Given the description of an element on the screen output the (x, y) to click on. 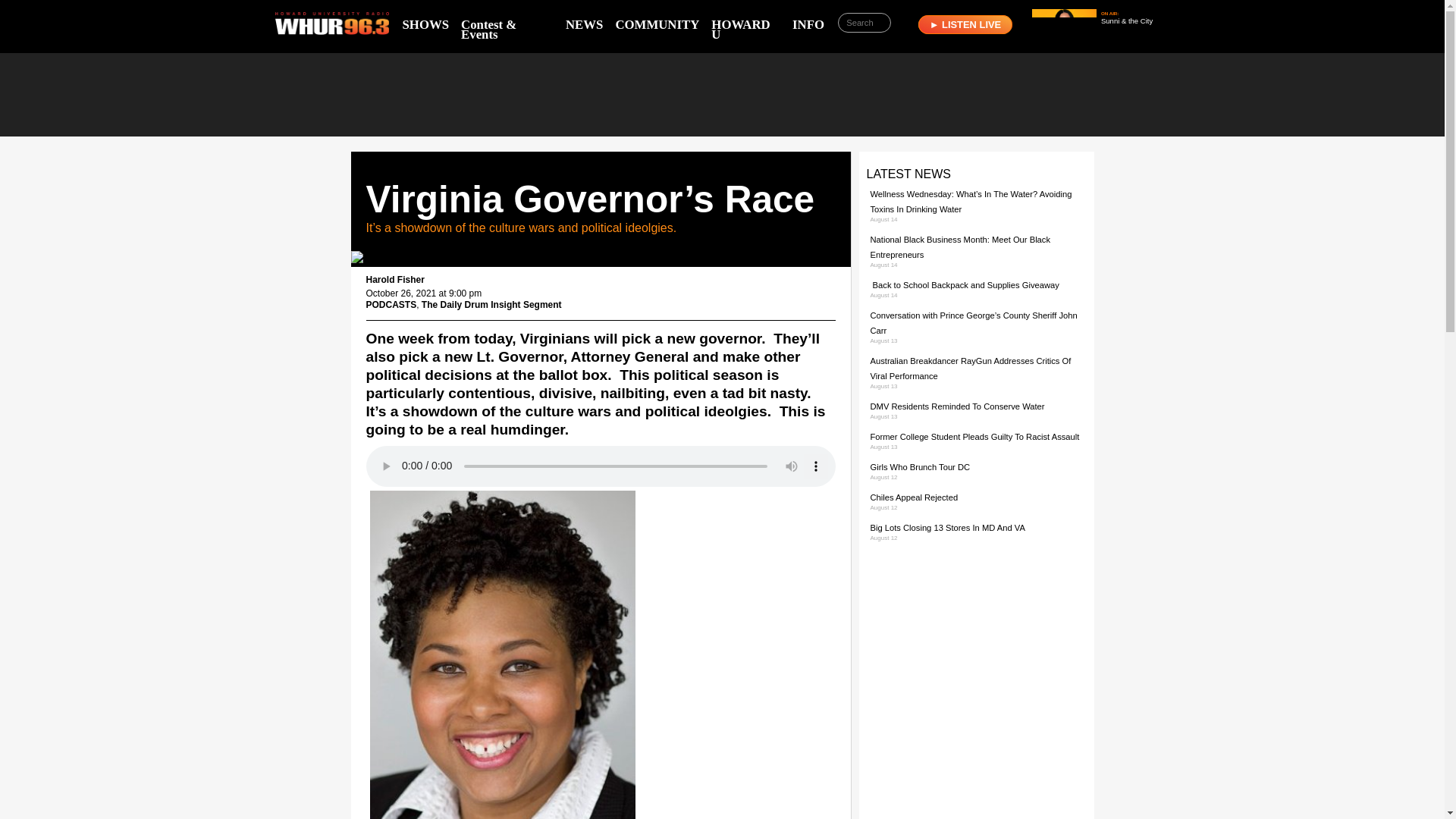
Harold Fisher (394, 279)
Permanent Link to Chiles Appeal Rejected (914, 497)
 Back to School Backpack and Supplies Giveaway (964, 284)
SHOWS (425, 24)
The Daily Drum Insight Segment (492, 304)
National Black Business Month: Meet Our Black Entrepreneurs (960, 247)
Permanent Link to Girls Who Brunch Tour DC (920, 466)
Posts by Harold Fisher (394, 279)
